Given the description of an element on the screen output the (x, y) to click on. 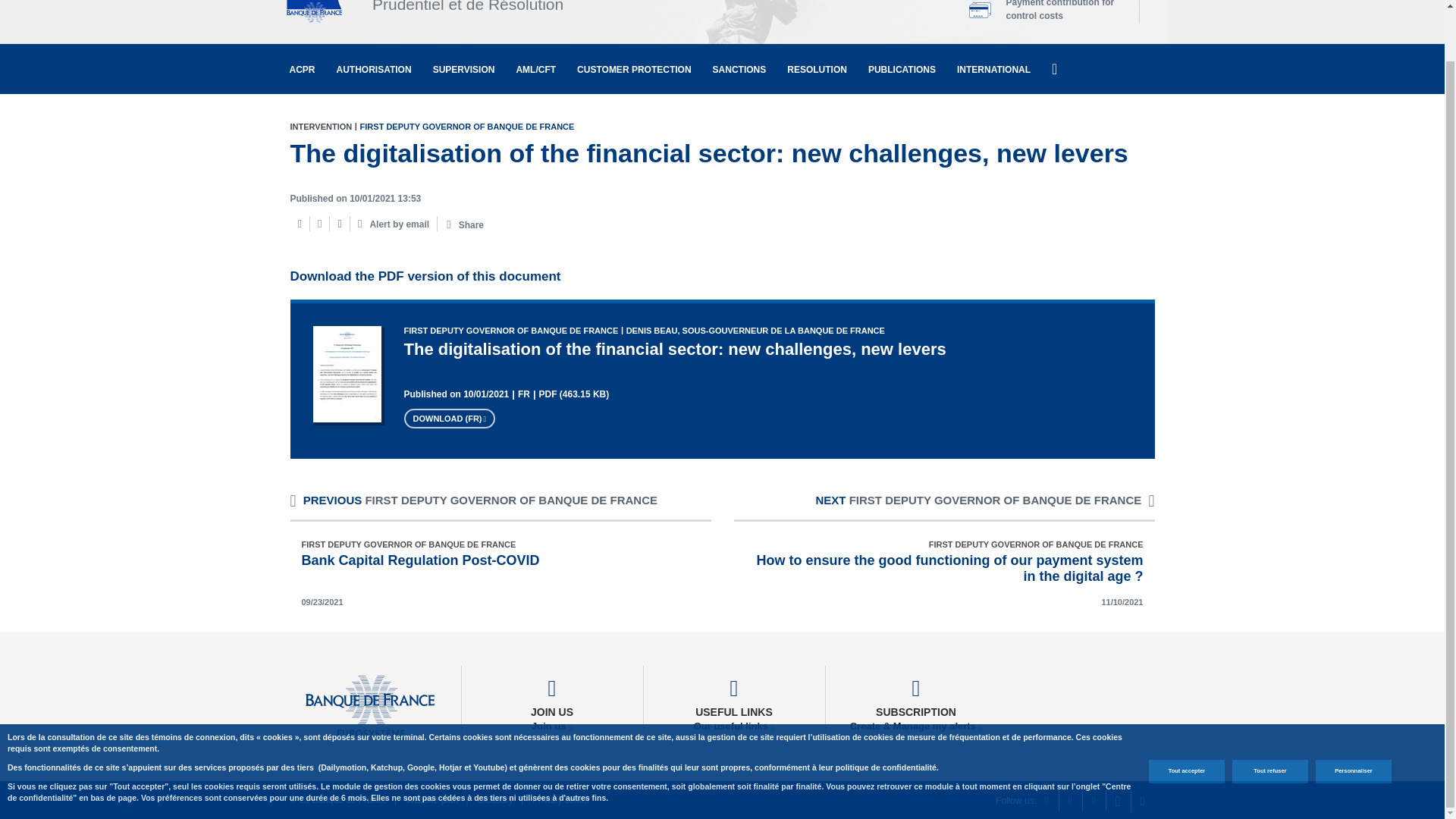
Personnaliser (1353, 716)
Tout refuser (1269, 716)
Alert by email (393, 223)
Email (319, 224)
PDF (339, 224)
Tout accepter (1186, 716)
Print (298, 224)
